Given the description of an element on the screen output the (x, y) to click on. 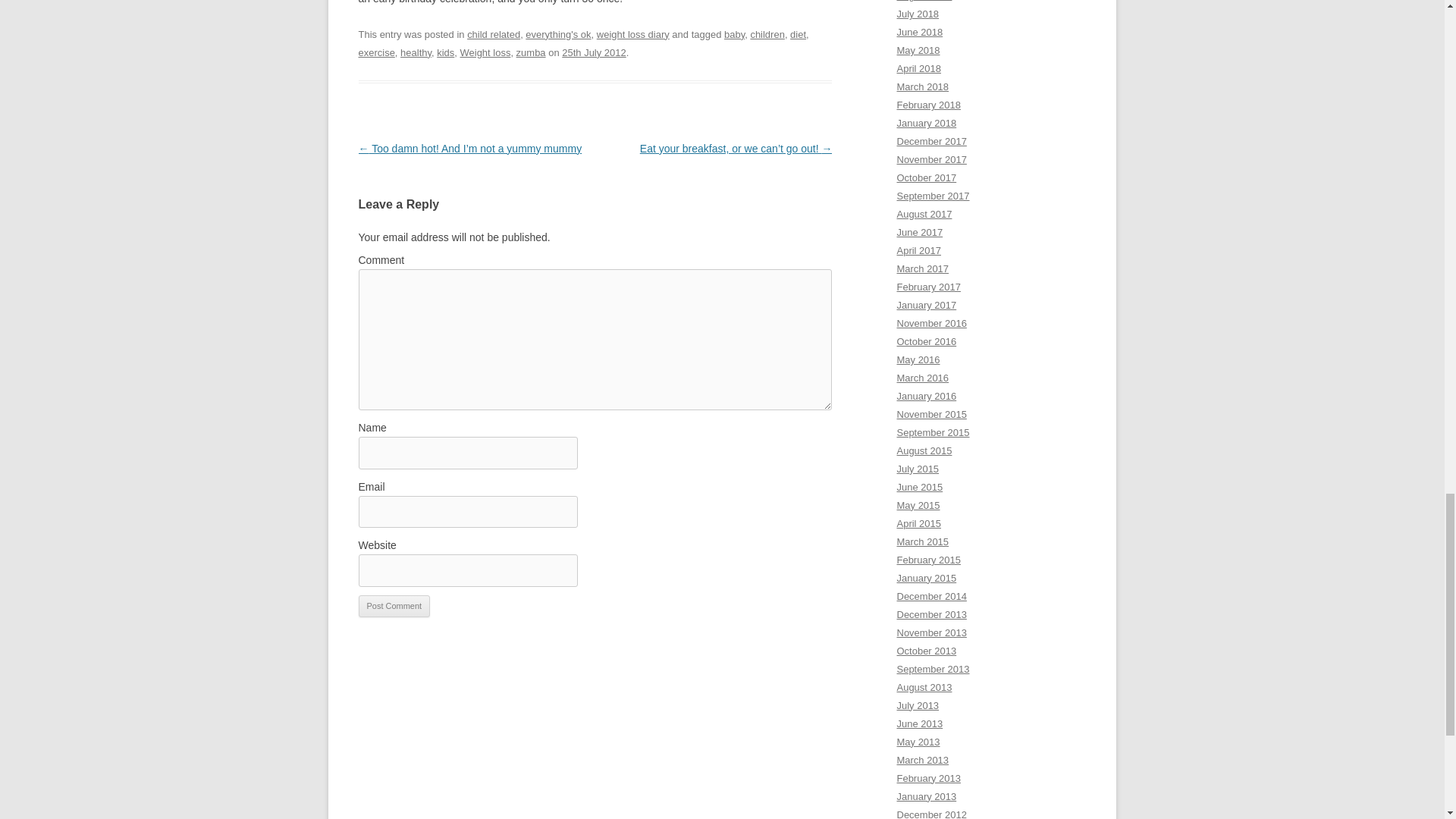
Post Comment (393, 606)
10:51 pm (594, 52)
25th July 2012 (594, 52)
Weight loss (485, 52)
healthy (415, 52)
everything's ok (558, 34)
diet (798, 34)
baby (733, 34)
exercise (376, 52)
zumba (531, 52)
